Given the description of an element on the screen output the (x, y) to click on. 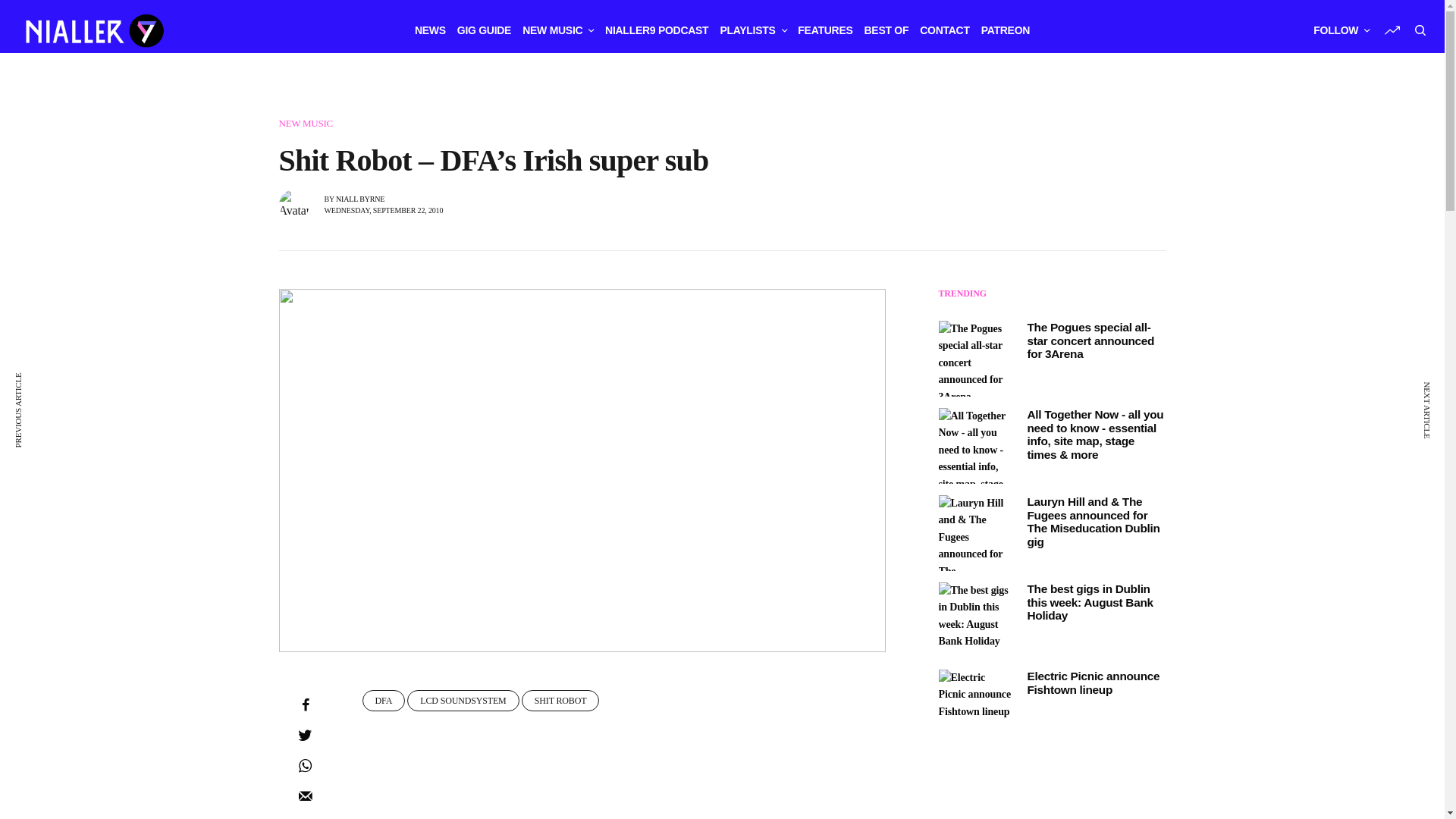
Nialler9 (92, 30)
Best Of (886, 30)
Playlists (752, 30)
